Given the description of an element on the screen output the (x, y) to click on. 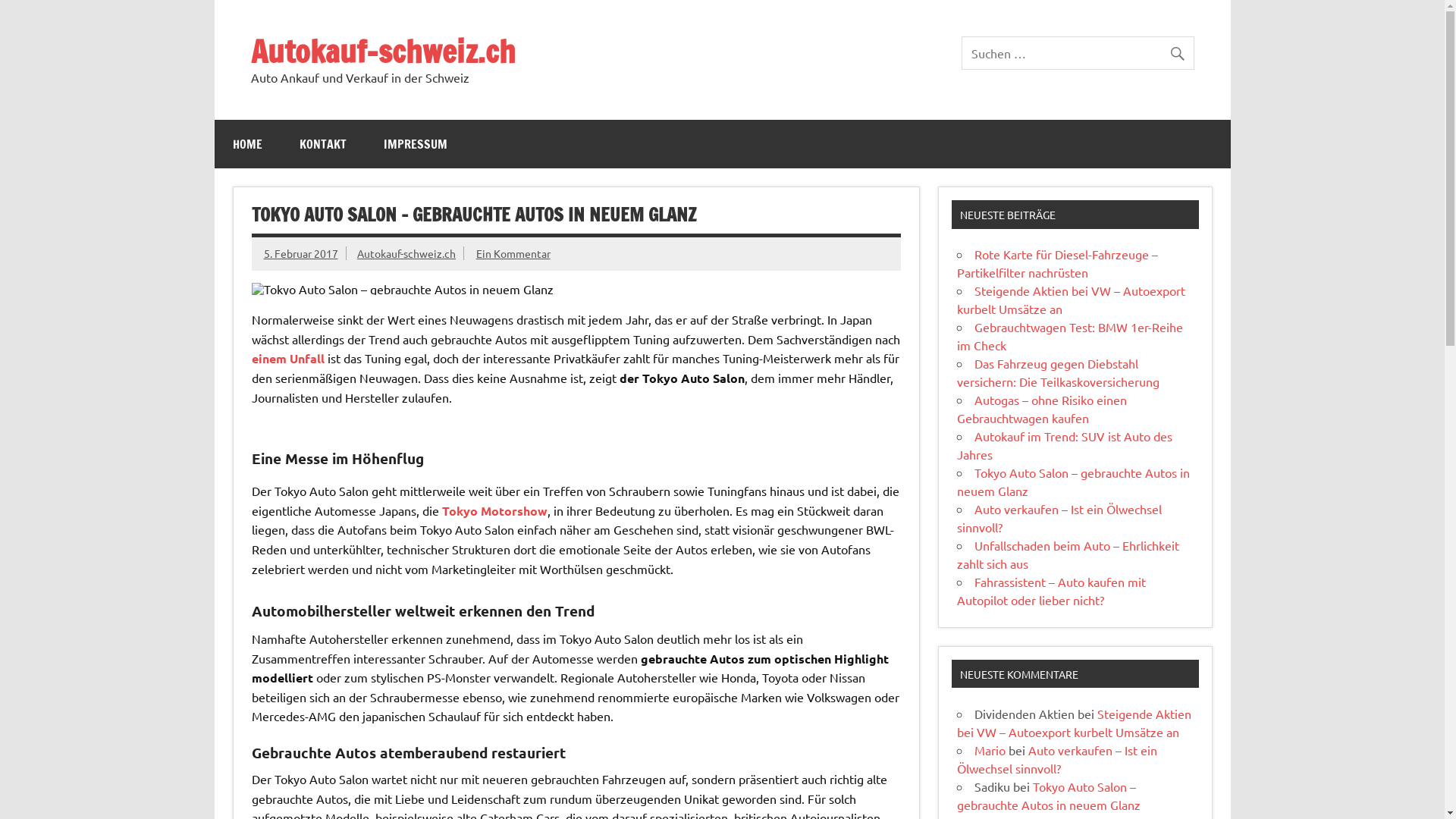
Autokauf-schweiz.ch Element type: text (382, 50)
5. Februar 2017 Element type: text (300, 253)
Autokauf-schweiz.ch Element type: text (406, 253)
Mario Element type: text (989, 749)
einem Unfall Element type: text (287, 358)
Ein Kommentar Element type: text (513, 253)
Gebrauchtwagen Test: BMW 1er-Reihe im Check Element type: text (1070, 335)
KONTAKT Element type: text (322, 143)
HOME Element type: text (246, 143)
Autokauf im Trend: SUV ist Auto des Jahres Element type: text (1064, 444)
Tokyo Motorshow Element type: text (493, 510)
IMPRESSUM Element type: text (415, 143)
